Given the description of an element on the screen output the (x, y) to click on. 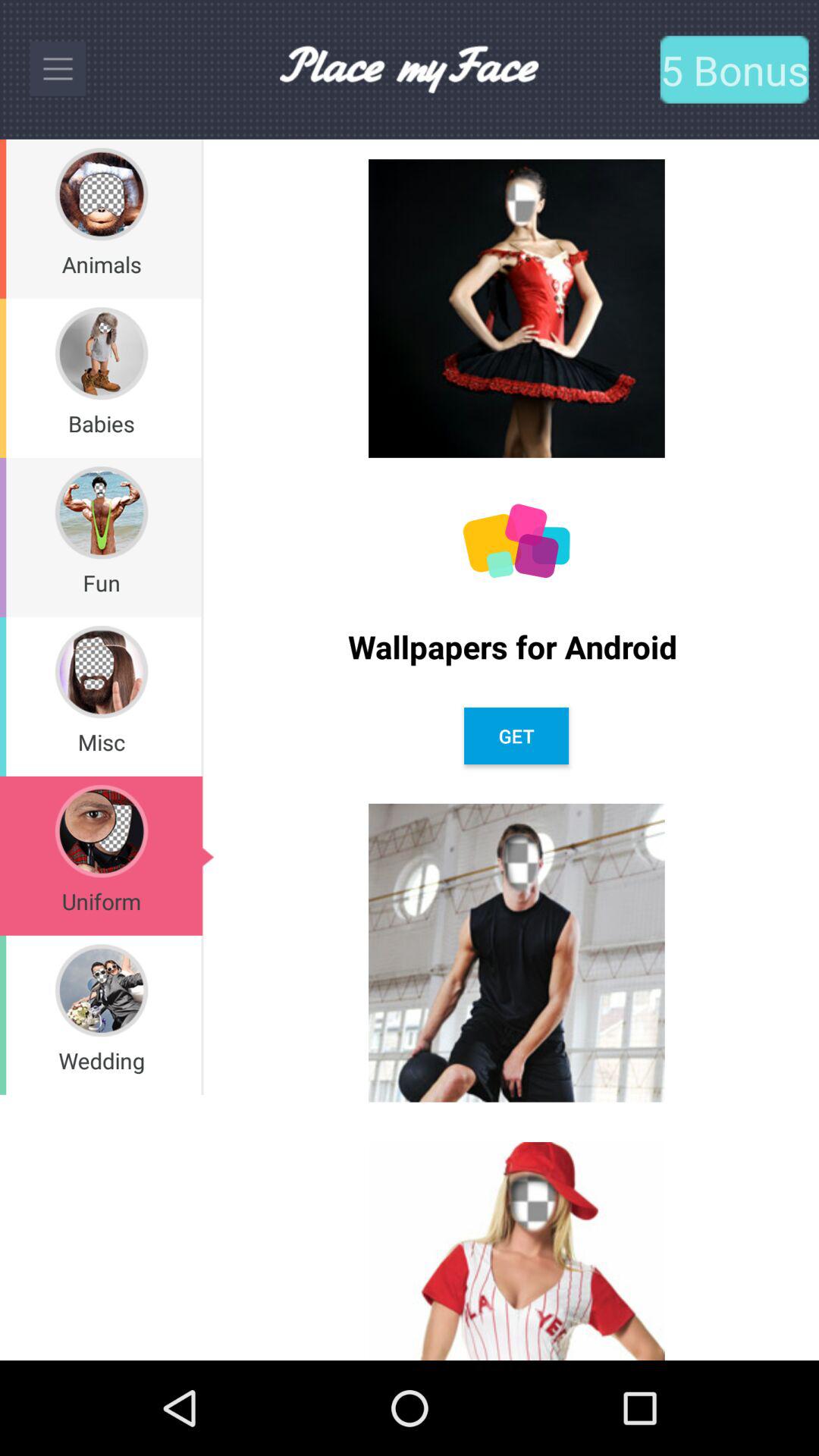
swipe until the get (516, 735)
